Given the description of an element on the screen output the (x, y) to click on. 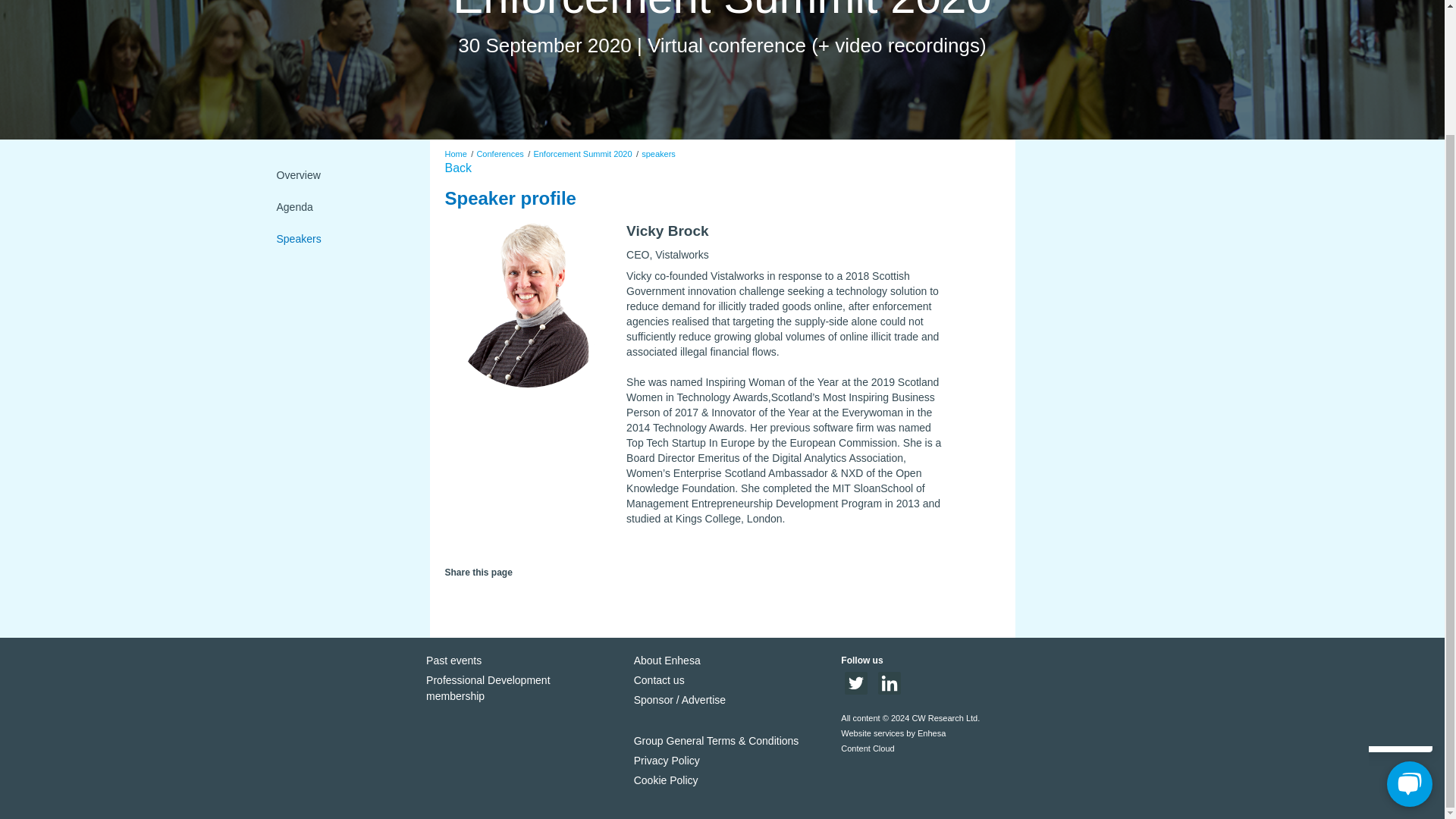
Cookie Policy (665, 779)
Print View (526, 598)
Agenda (340, 206)
Conferences (499, 153)
Back (457, 167)
Share on LinkedIn (472, 595)
Contact us (658, 680)
Follow us on Twitter (855, 690)
Print View (504, 598)
Overview (340, 174)
About Enhesa (666, 660)
Enforcement Summit 2020 (581, 153)
Share on Twitter (452, 595)
Privacy Policy (522, 689)
